Given the description of an element on the screen output the (x, y) to click on. 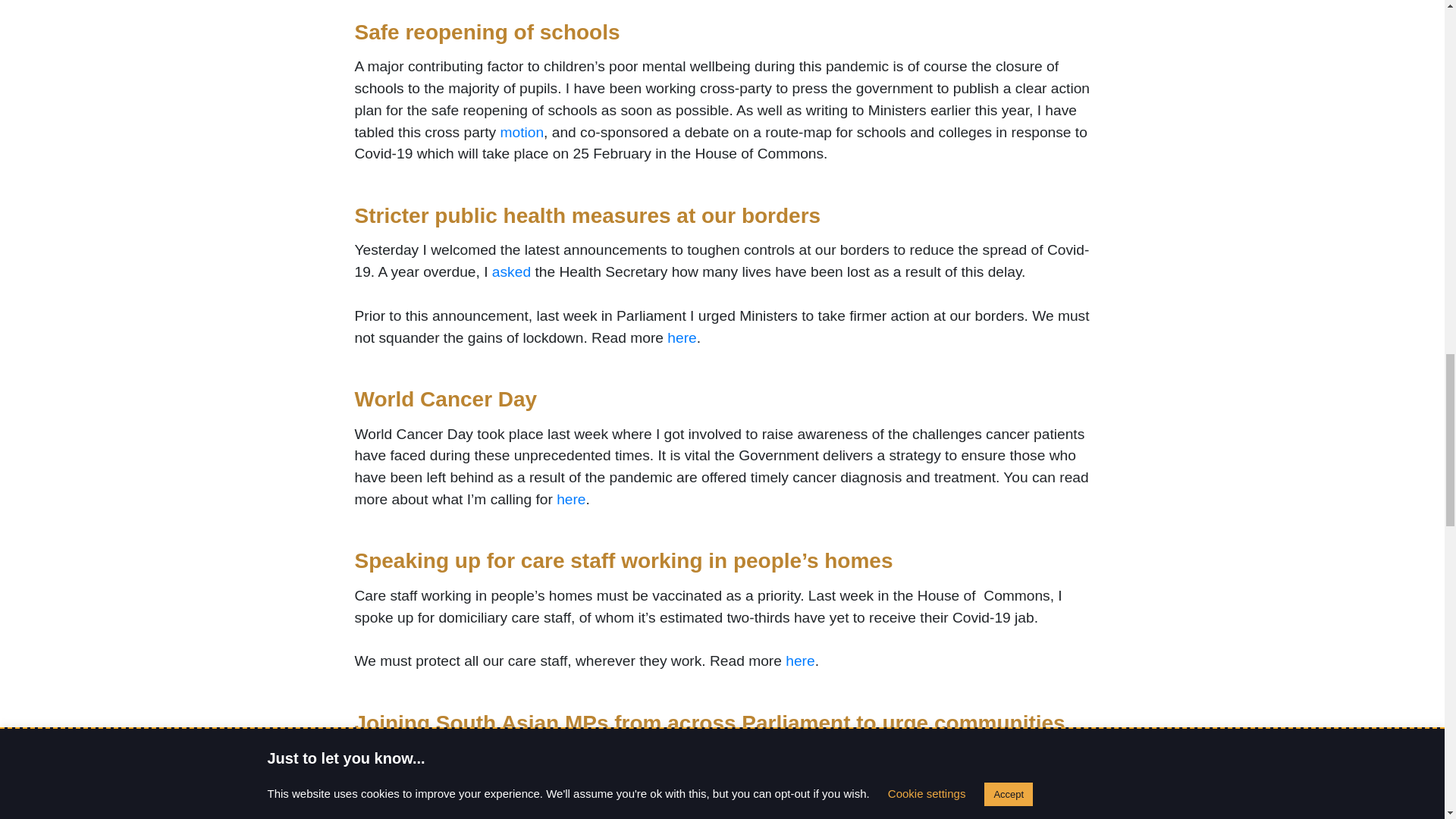
here (680, 337)
here (799, 660)
motion (521, 132)
asked (511, 271)
here (570, 498)
